Given the description of an element on the screen output the (x, y) to click on. 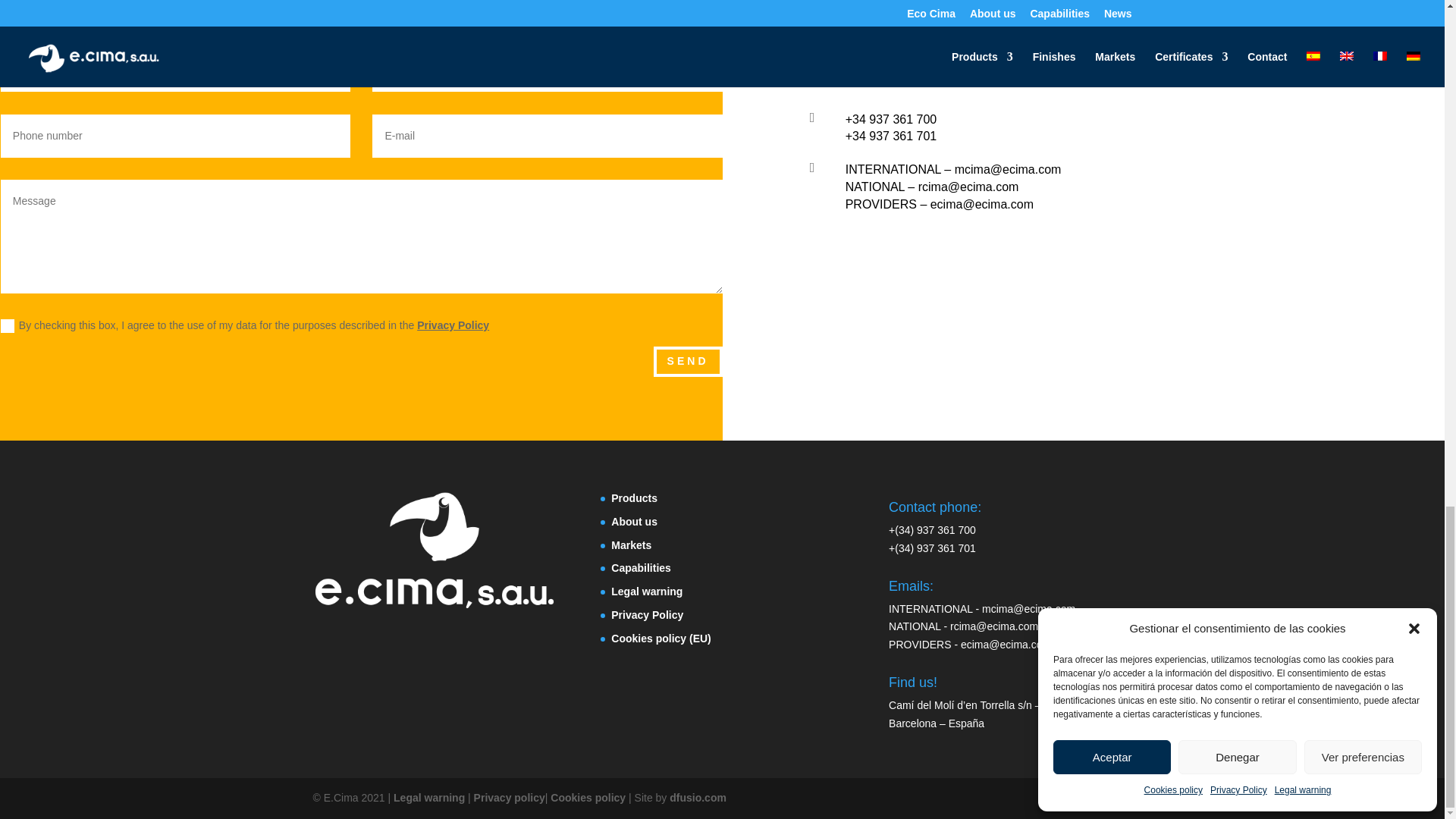
Only numbers allowed. (175, 136)
